Given the description of an element on the screen output the (x, y) to click on. 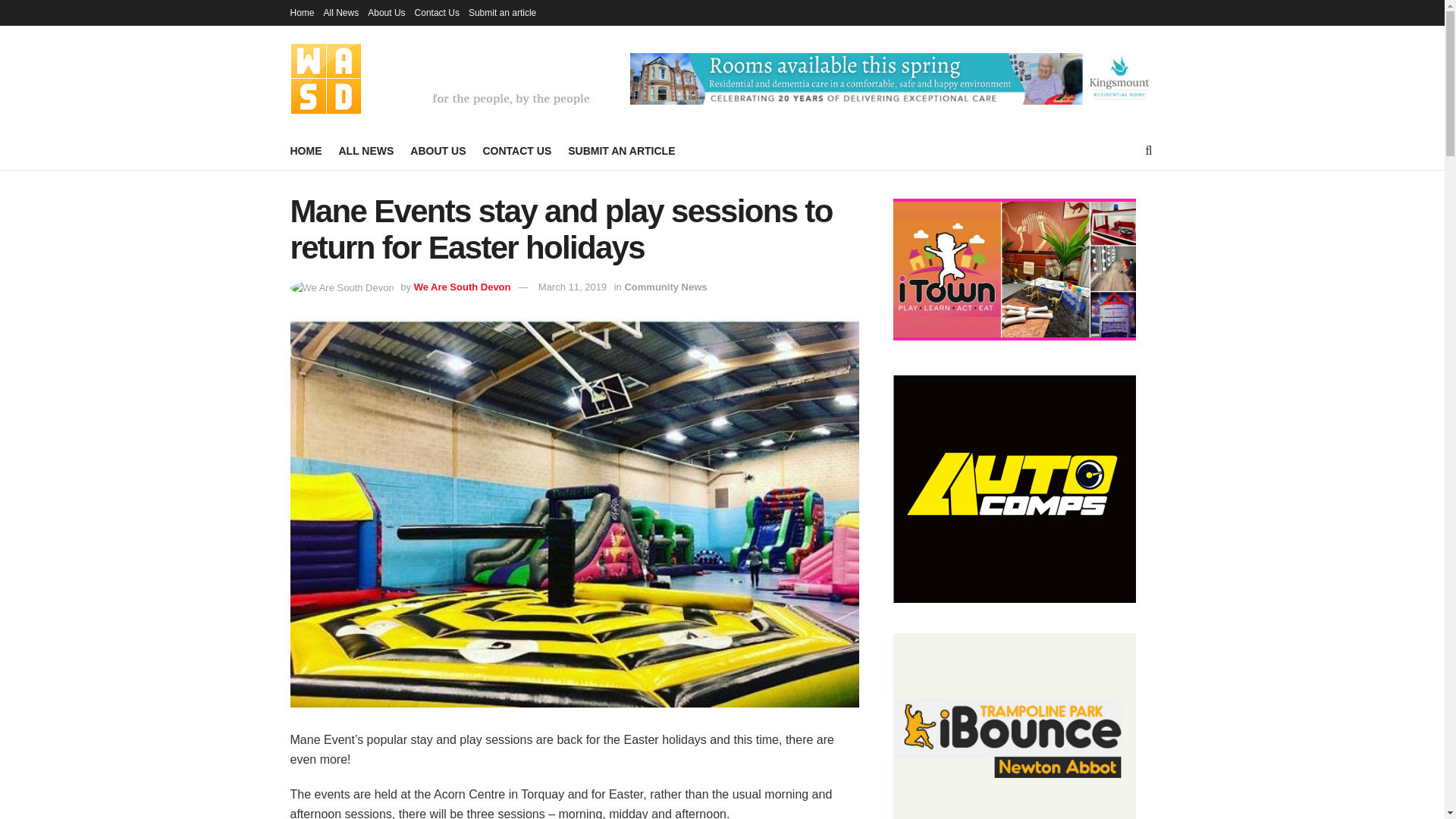
Submit an article (501, 12)
We Are South Devon (462, 286)
HOME (305, 150)
Contact Us (437, 12)
March 11, 2019 (572, 286)
CONTACT US (516, 150)
Home (301, 12)
About Us (386, 12)
ALL NEWS (365, 150)
Community News (665, 286)
ABOUT US (437, 150)
SUBMIT AN ARTICLE (621, 150)
All News (341, 12)
